Given the description of an element on the screen output the (x, y) to click on. 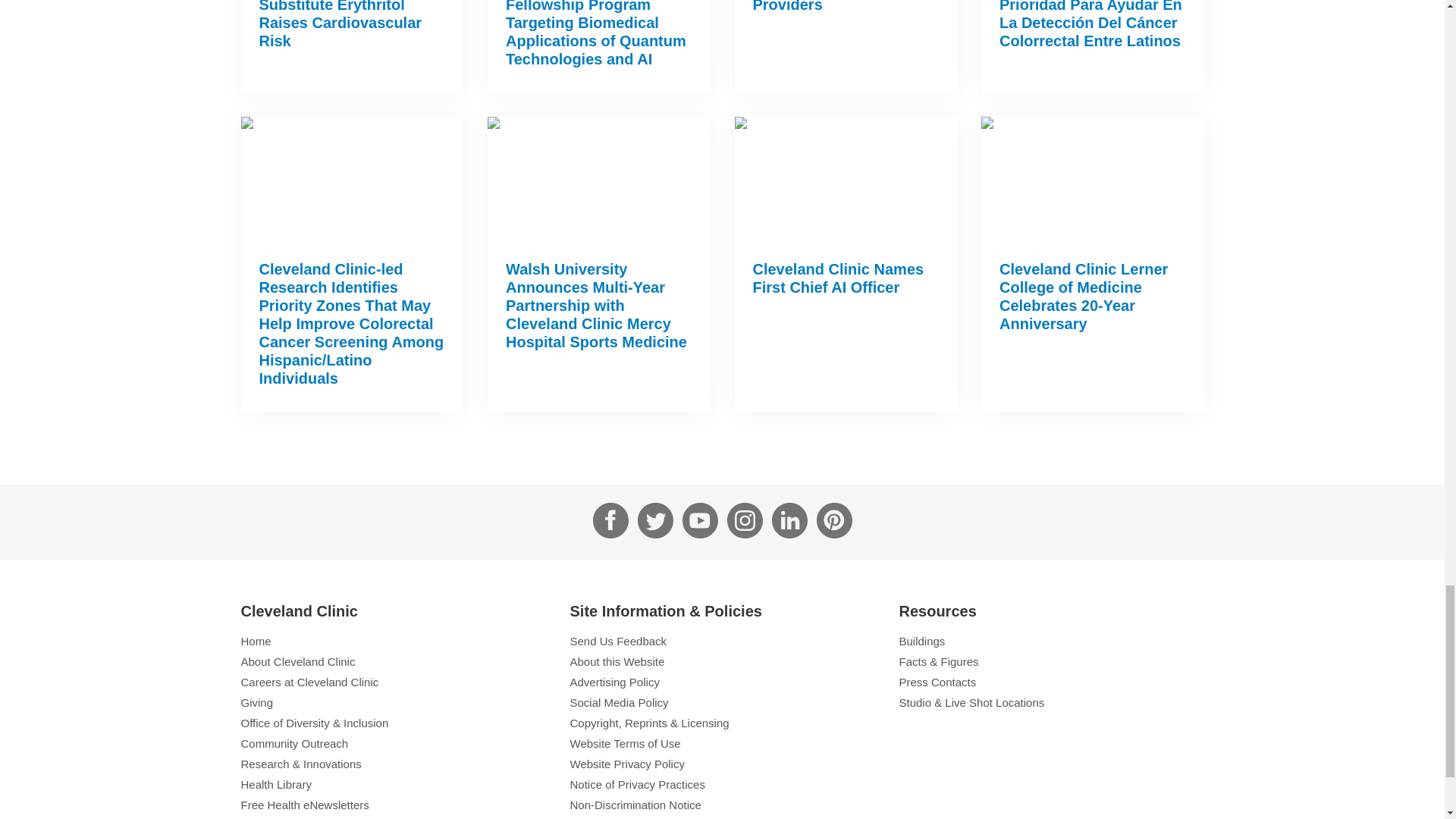
Cleveland Clinic Names First Chief AI Officer (837, 278)
